Given the description of an element on the screen output the (x, y) to click on. 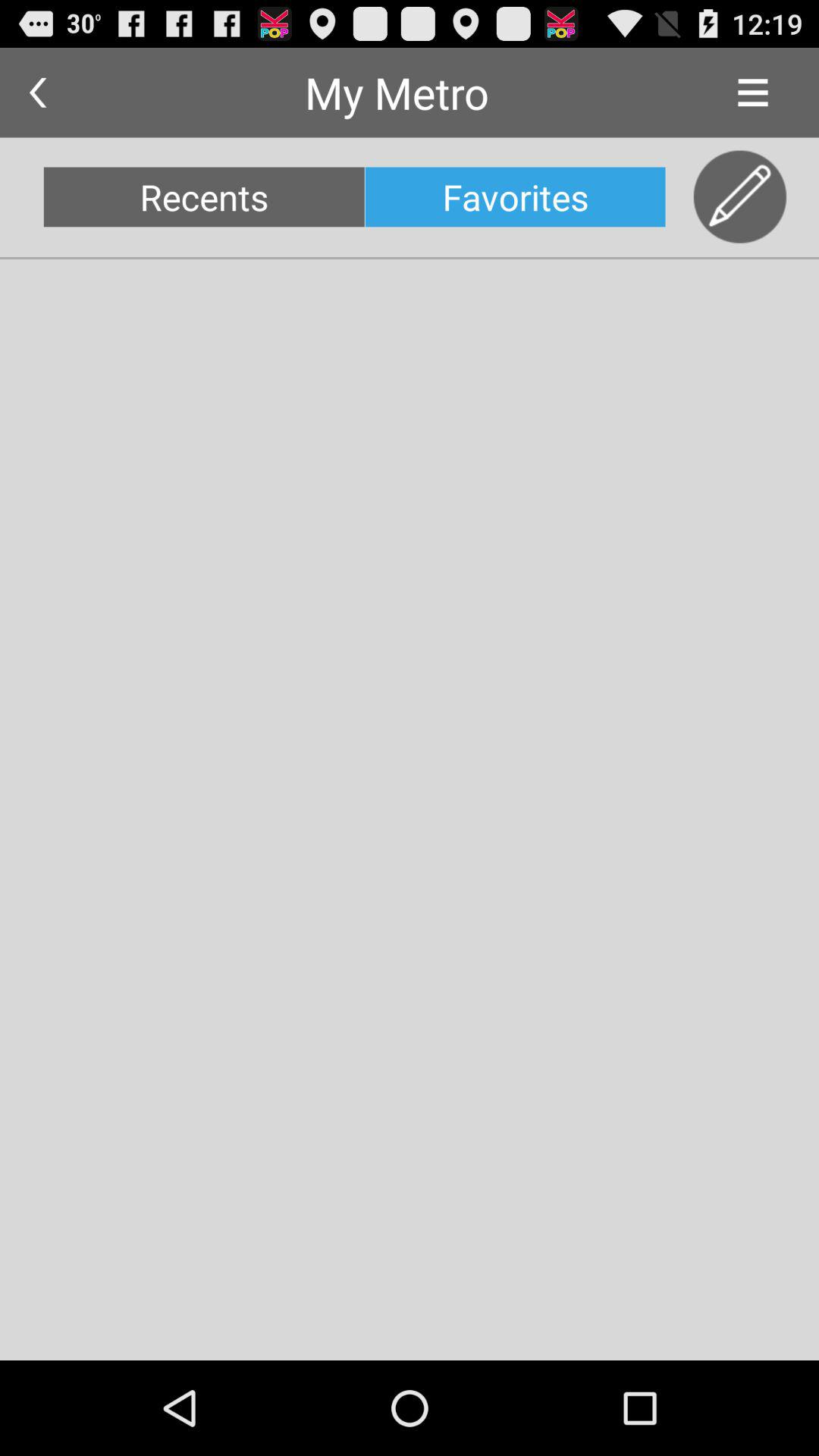
press app next to recents app (515, 196)
